Given the description of an element on the screen output the (x, y) to click on. 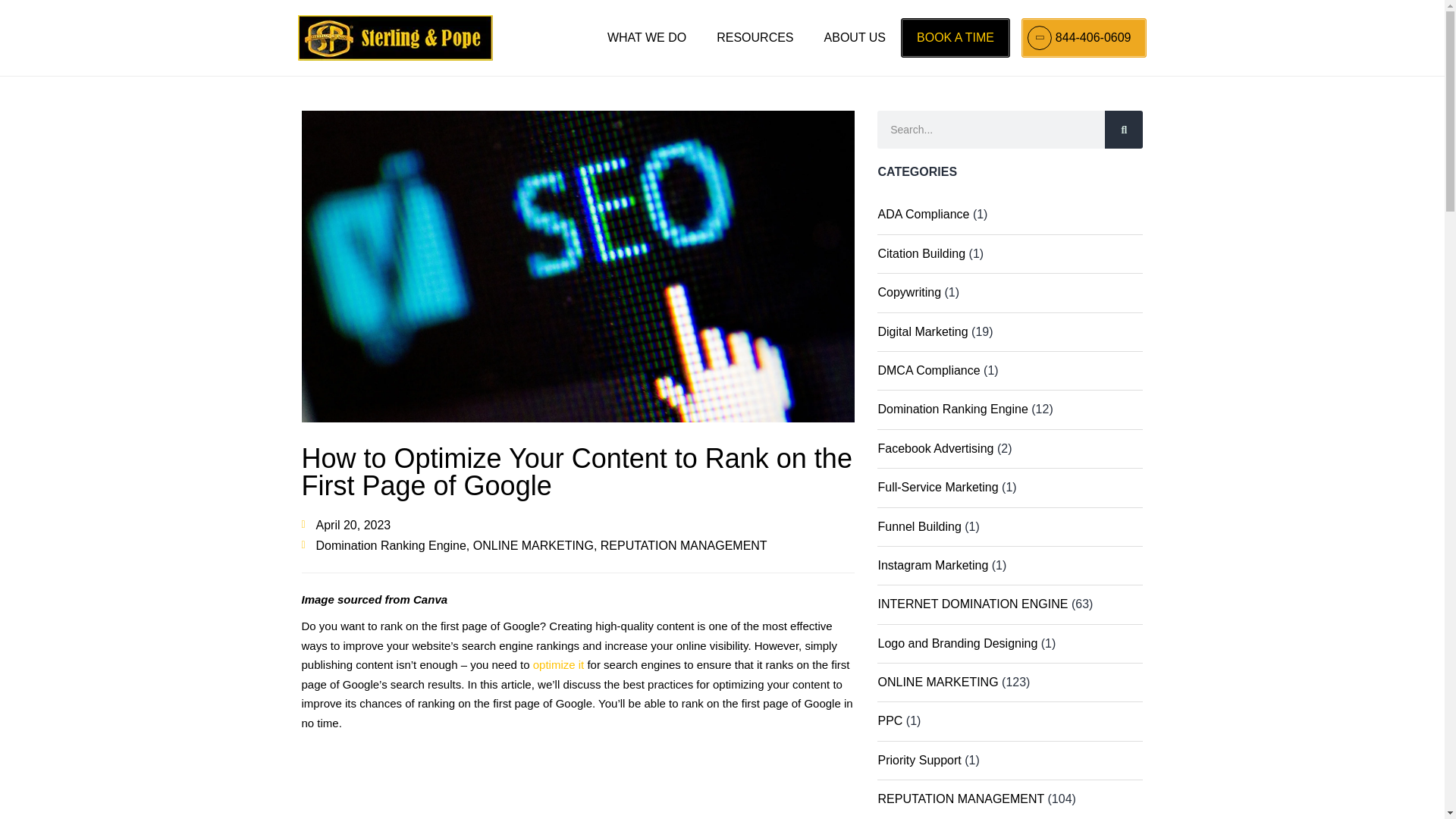
REPUTATION MANAGEMENT (960, 798)
BOOK A TIME (955, 37)
PPC (889, 720)
REPUTATION MANAGEMENT (683, 545)
Domination Ranking Engine (390, 545)
Funnel Building (918, 526)
WHAT WE DO (646, 37)
Logo and Branding Designing (956, 643)
INTERNET DOMINATION ENGINE (972, 603)
Digital Marketing (922, 331)
